Given the description of an element on the screen output the (x, y) to click on. 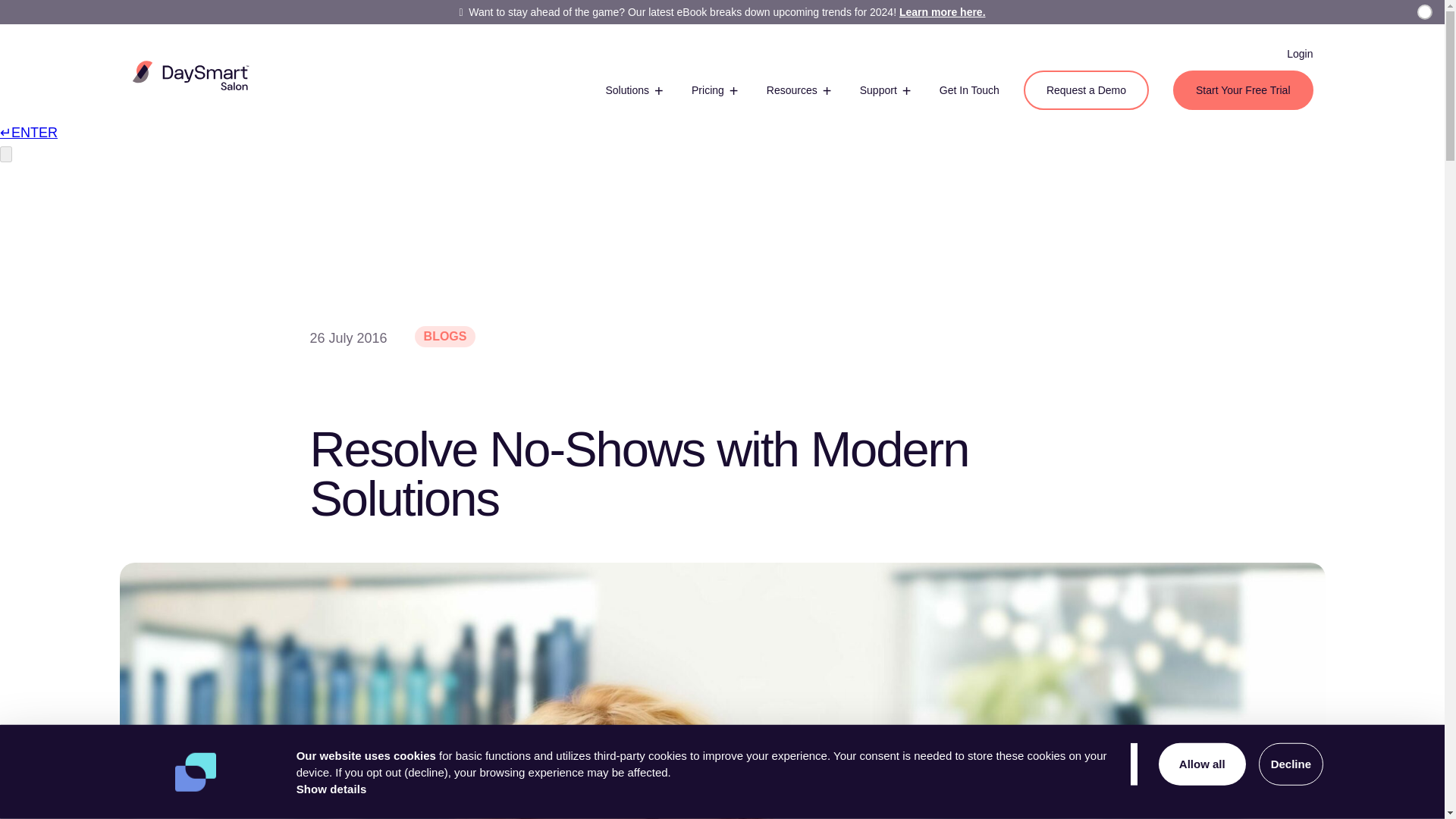
Homepage (190, 75)
Show details (331, 789)
